Given the description of an element on the screen output the (x, y) to click on. 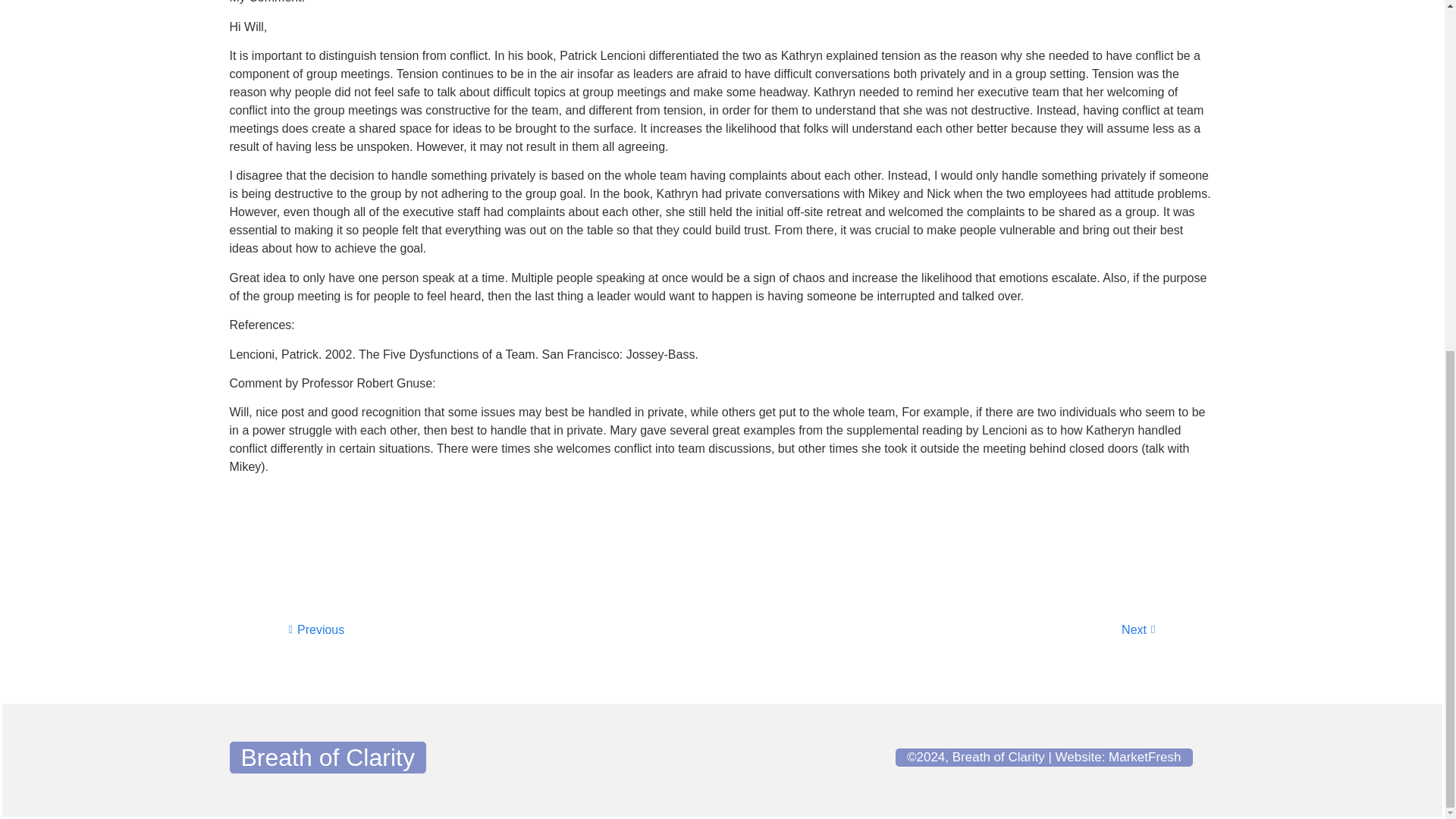
Breath of Clarity (327, 757)
Next (939, 629)
Previous (505, 629)
MarketFresh (1144, 757)
